Given the description of an element on the screen output the (x, y) to click on. 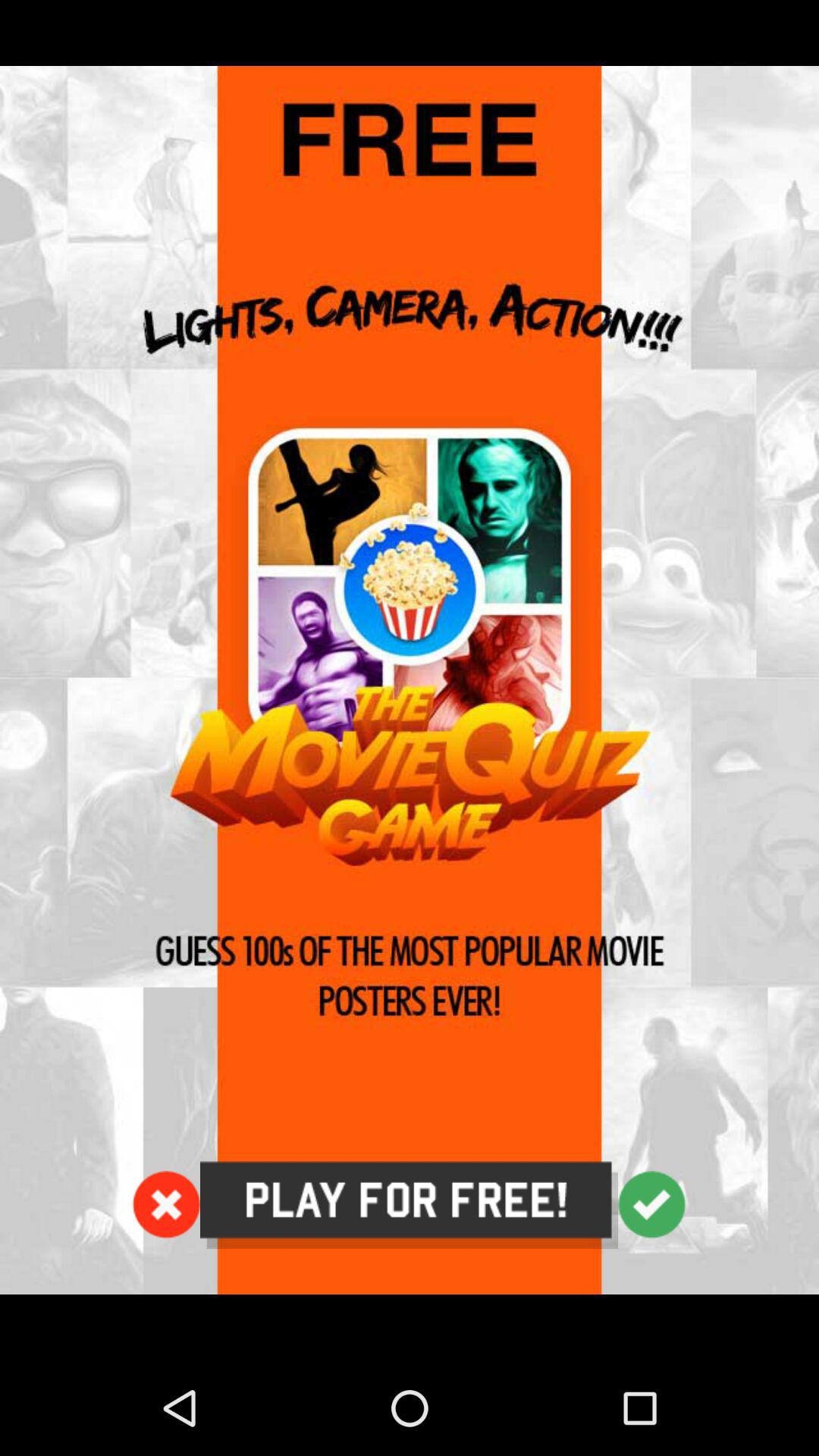
start using the app for free (409, 1204)
